Given the description of an element on the screen output the (x, y) to click on. 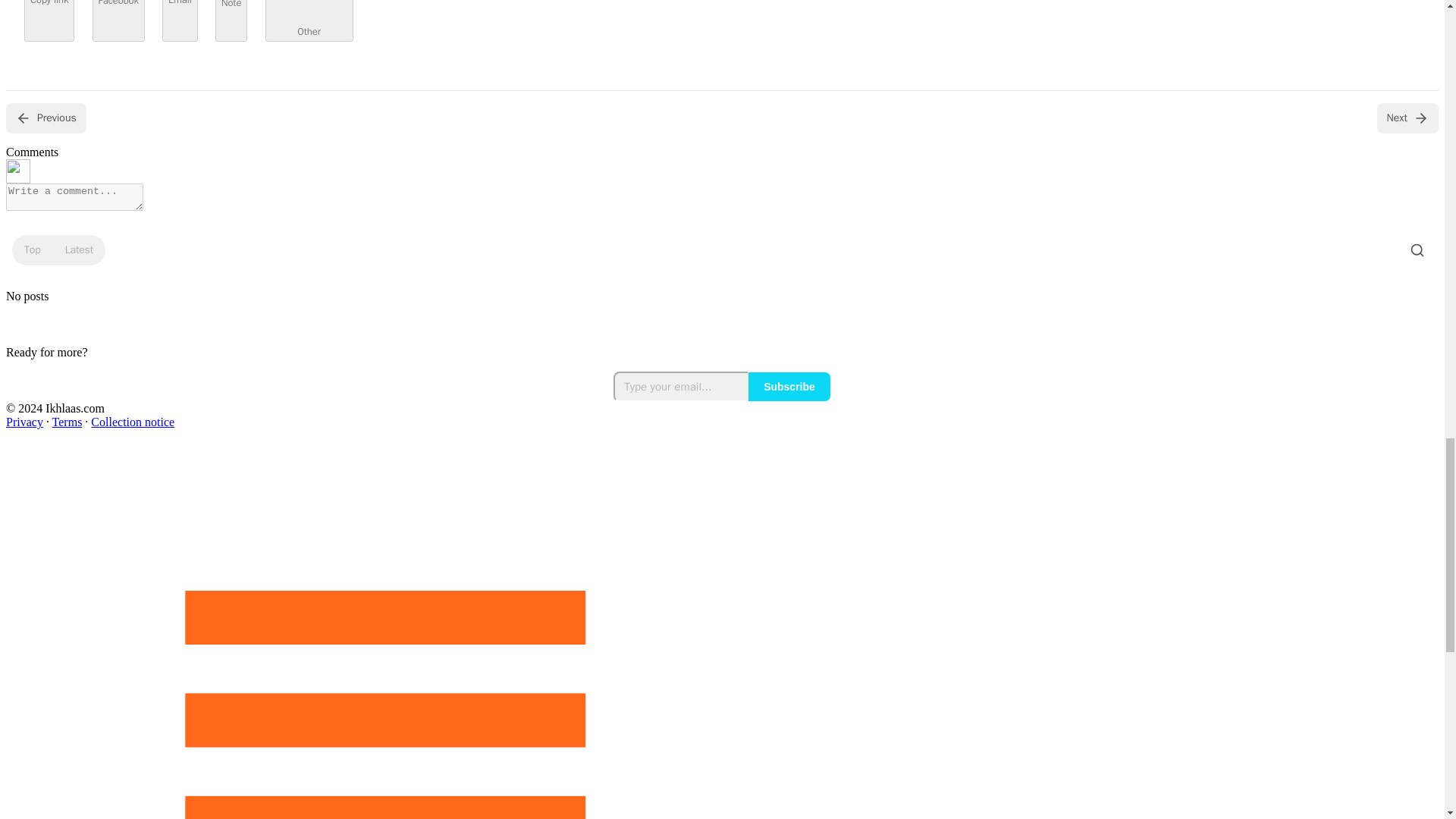
Subscribe (789, 386)
Latest (78, 250)
Other (308, 20)
Privacy (24, 421)
Terms (67, 421)
Previous (45, 118)
Top (31, 250)
Facebook (118, 20)
Copy link (49, 20)
